Given the description of an element on the screen output the (x, y) to click on. 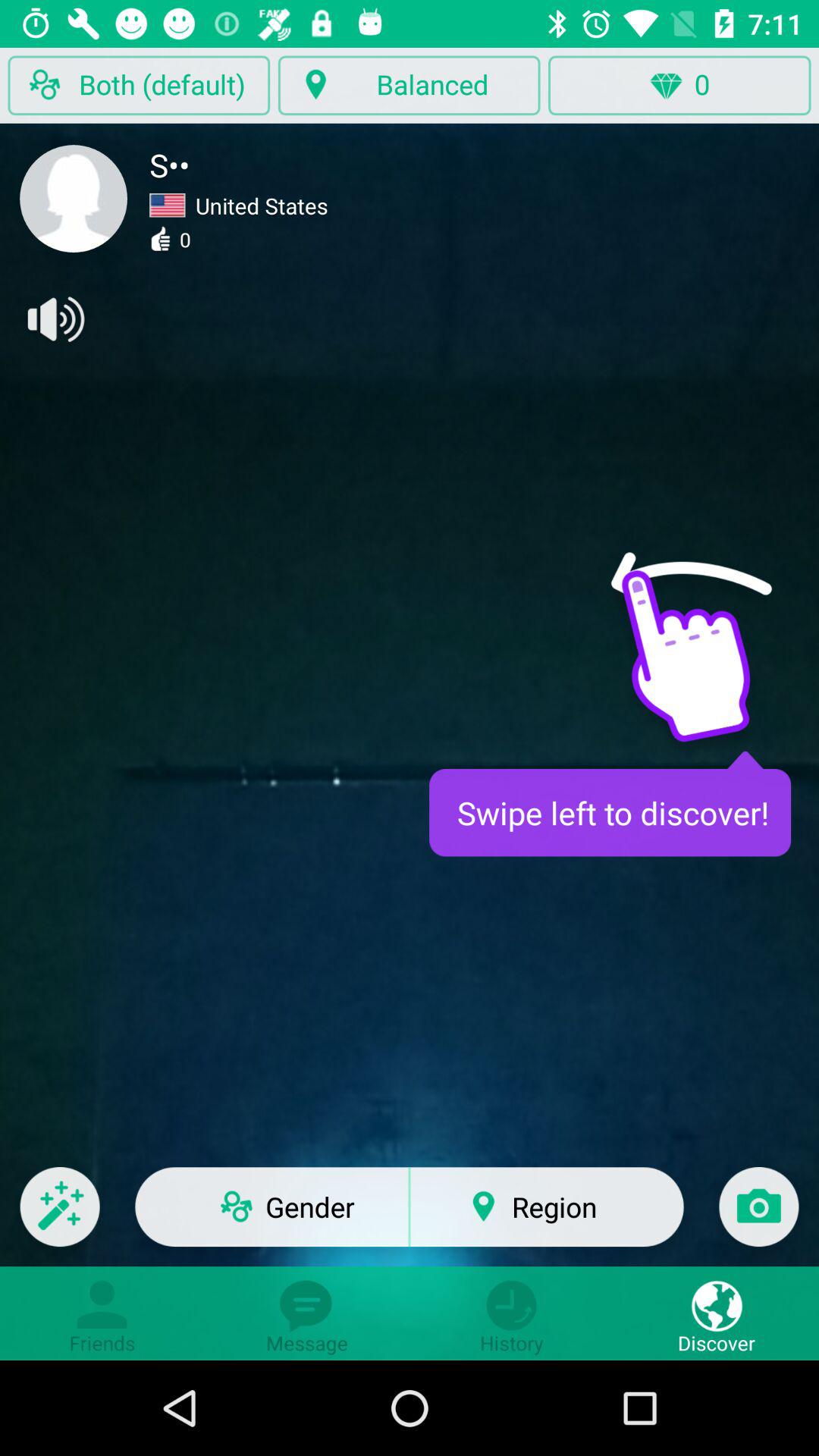
check the profile (73, 198)
